Given the description of an element on the screen output the (x, y) to click on. 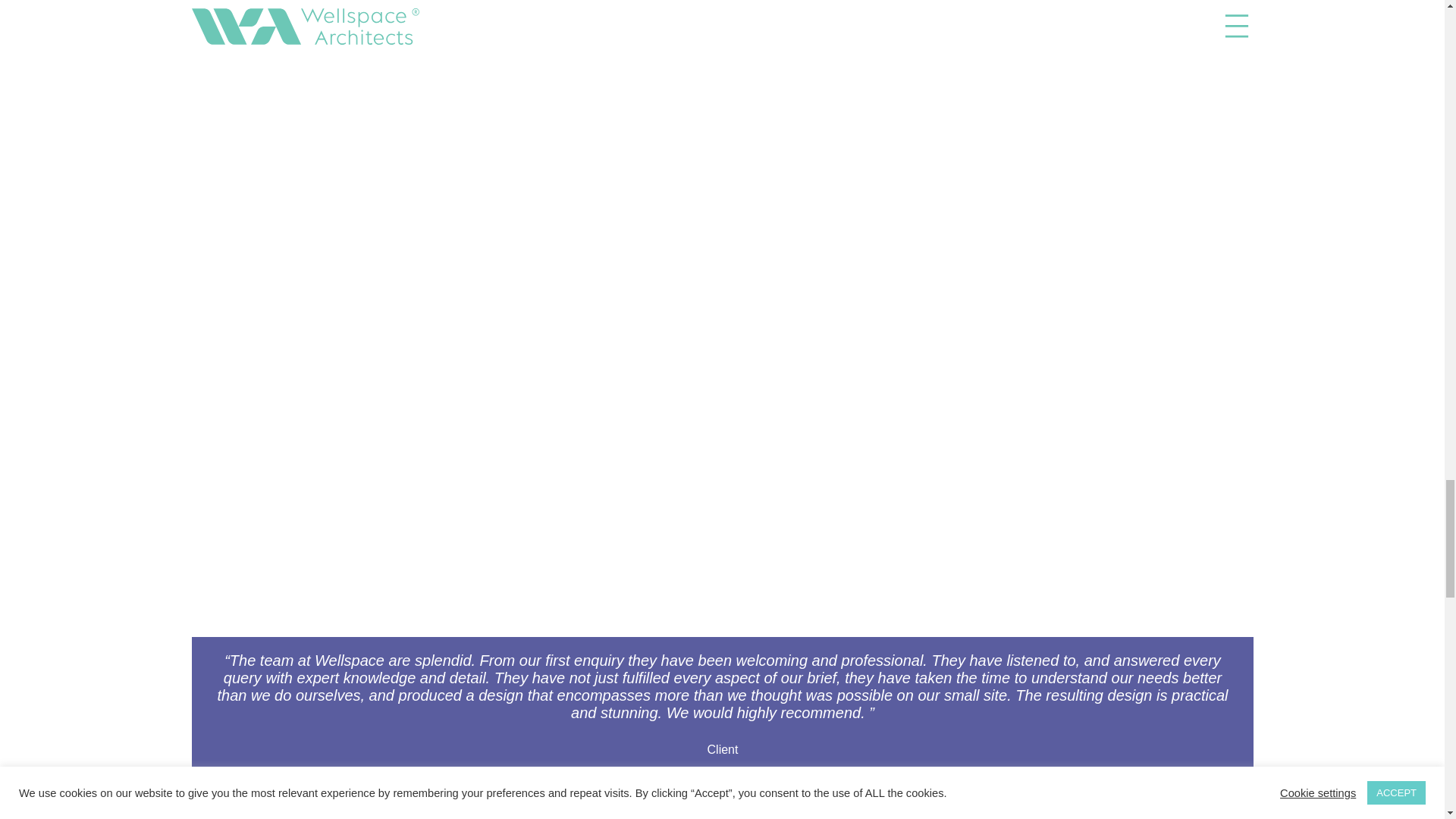
Hayden House (986, 807)
Hayden House (456, 807)
